Given the description of an element on the screen output the (x, y) to click on. 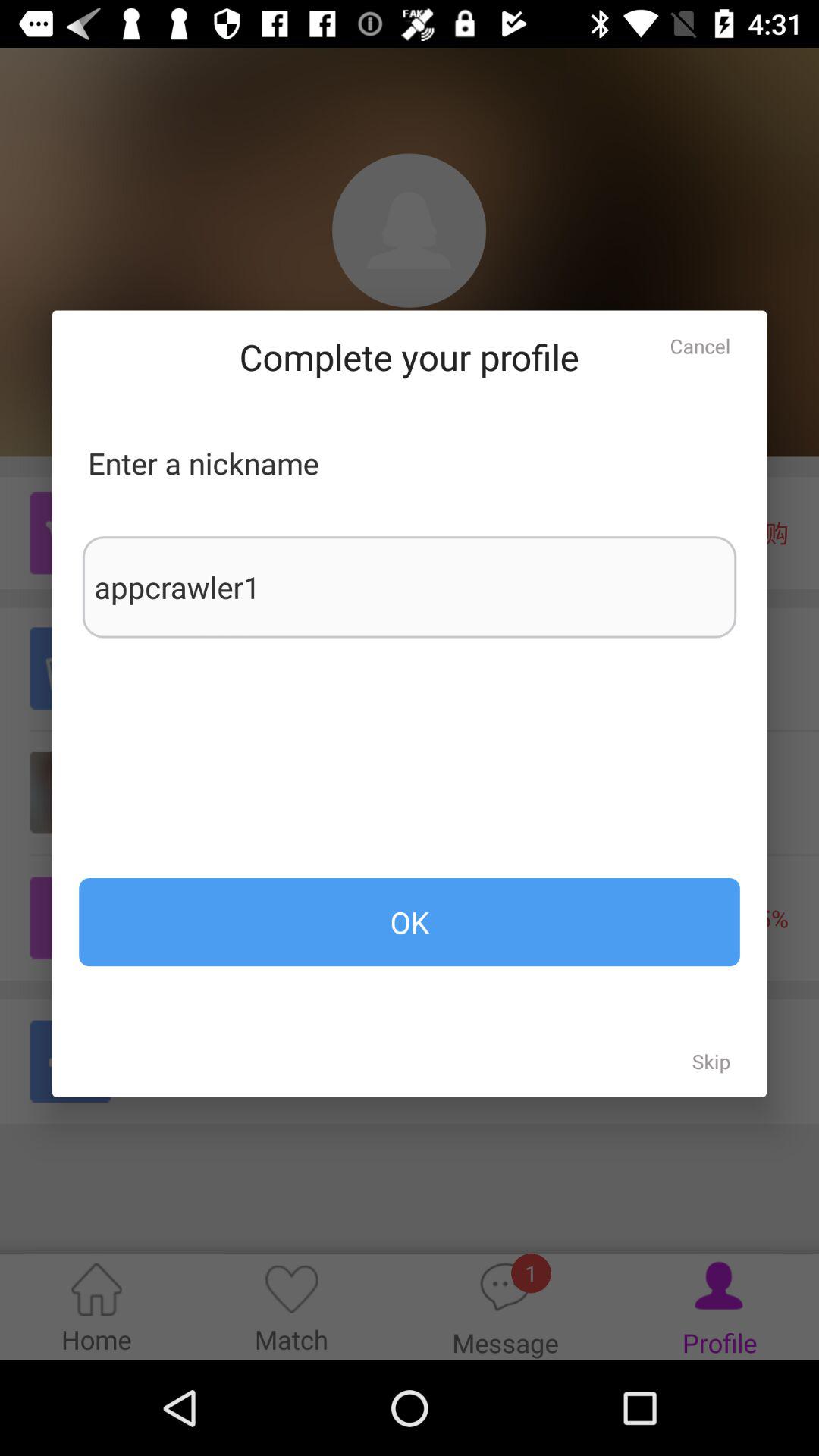
jump to the appcrawler1 item (409, 587)
